Given the description of an element on the screen output the (x, y) to click on. 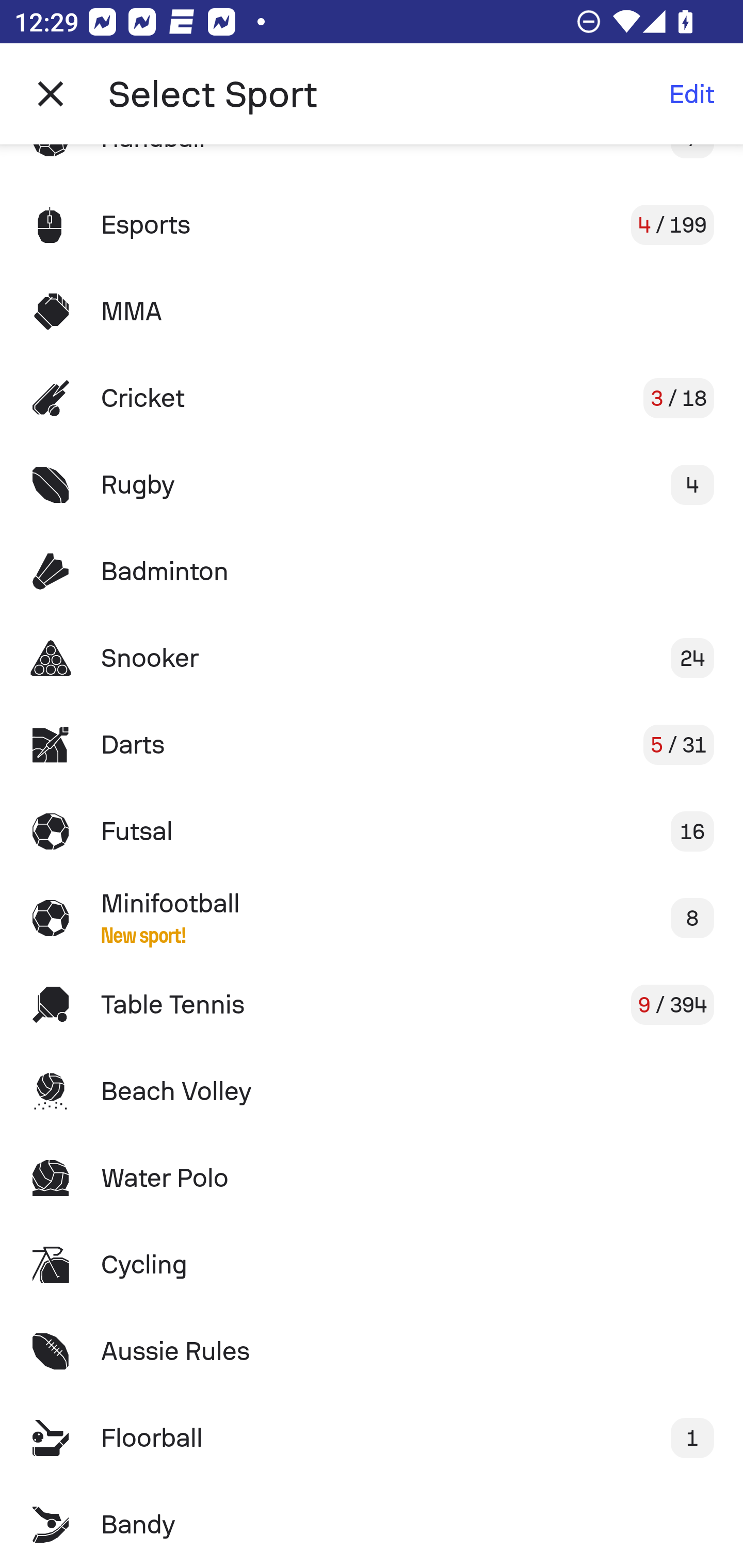
Edit (691, 93)
Esports 4 / 199 (371, 224)
MMA (371, 311)
Cricket 3 / 18 (371, 398)
Rugby 4 (371, 485)
Badminton (371, 571)
Snooker 24 (371, 657)
Darts 5 / 31 (371, 744)
Futsal 16 (371, 831)
Minifootball New sport! 8 (371, 917)
Table Tennis 9 / 394 (371, 1004)
Beach Volley (371, 1091)
Water Polo (371, 1178)
Cycling (371, 1264)
Aussie Rules (371, 1350)
Floorball 1 (371, 1437)
Bandy (371, 1524)
